Given the description of an element on the screen output the (x, y) to click on. 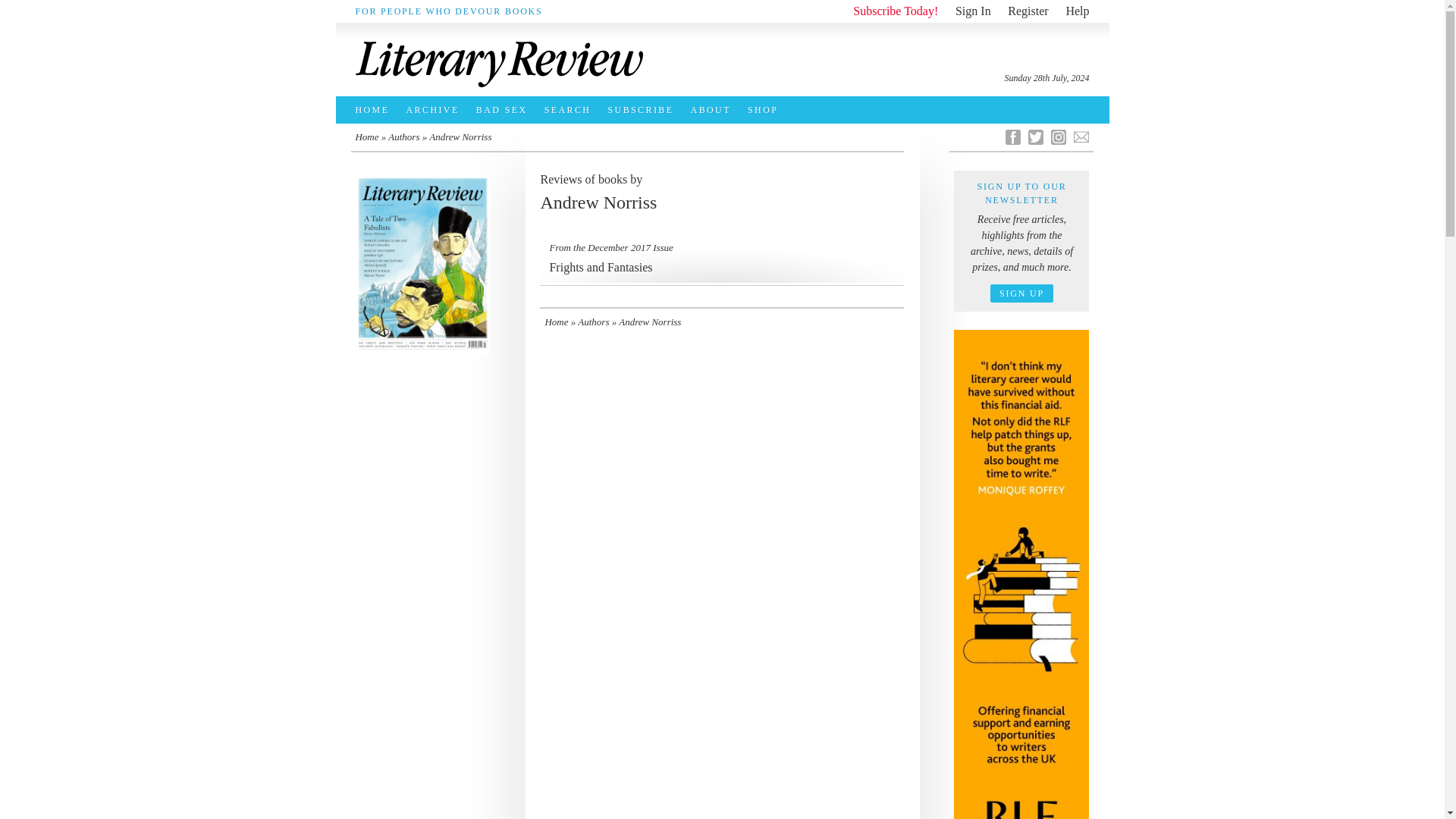
F (1013, 136)
Home (366, 136)
HOME (375, 109)
SIGN UP (1021, 293)
SUBSCRIBE (644, 109)
ABOUT (713, 109)
Facebook (722, 258)
SHOP (1013, 136)
Twitter (766, 109)
See articles in the Current Issue (1035, 136)
SEARCH (422, 264)
Register (572, 109)
T (1027, 10)
E (1035, 136)
